Given the description of an element on the screen output the (x, y) to click on. 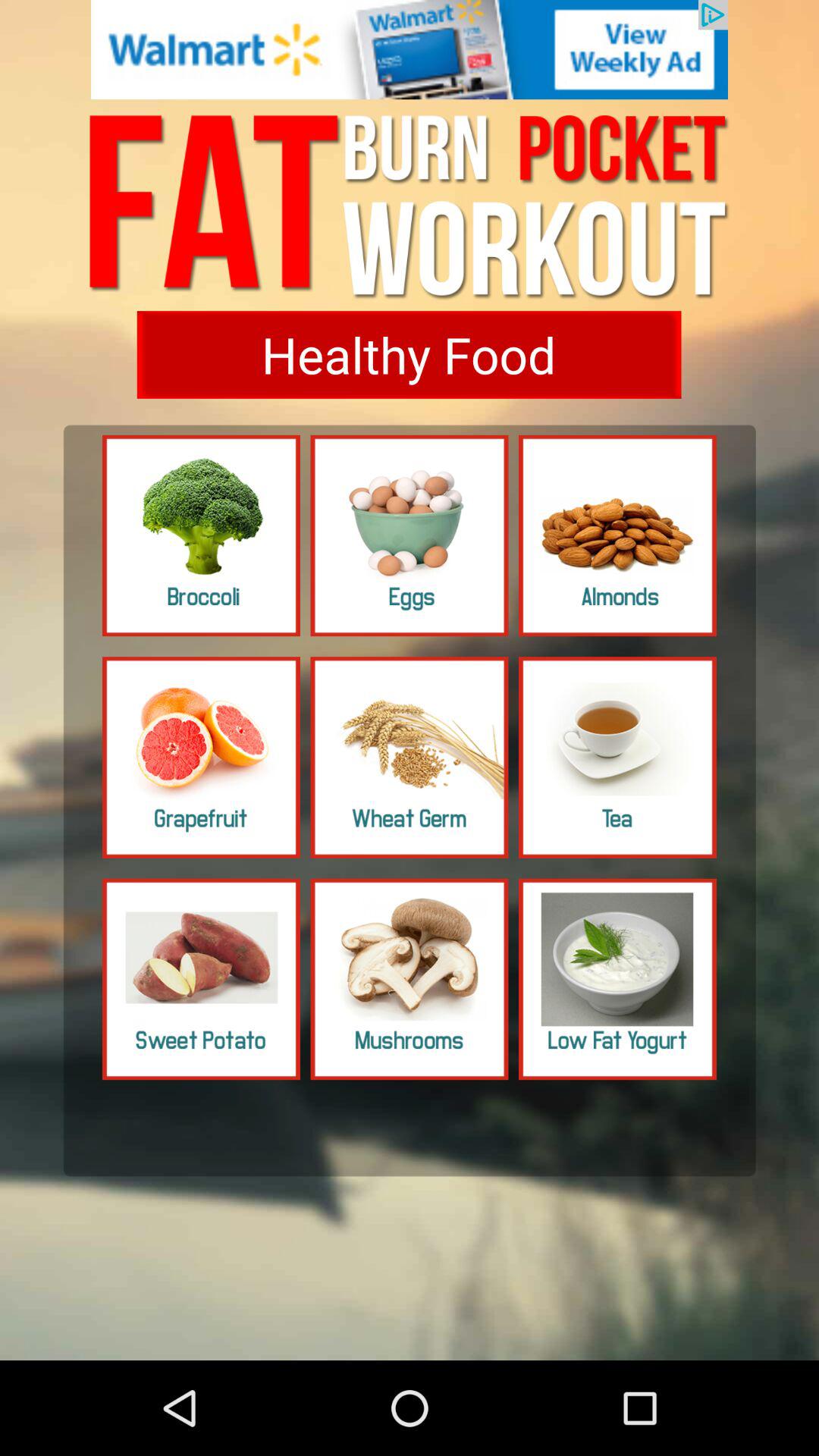
healthy food almonds select (617, 535)
